Given the description of an element on the screen output the (x, y) to click on. 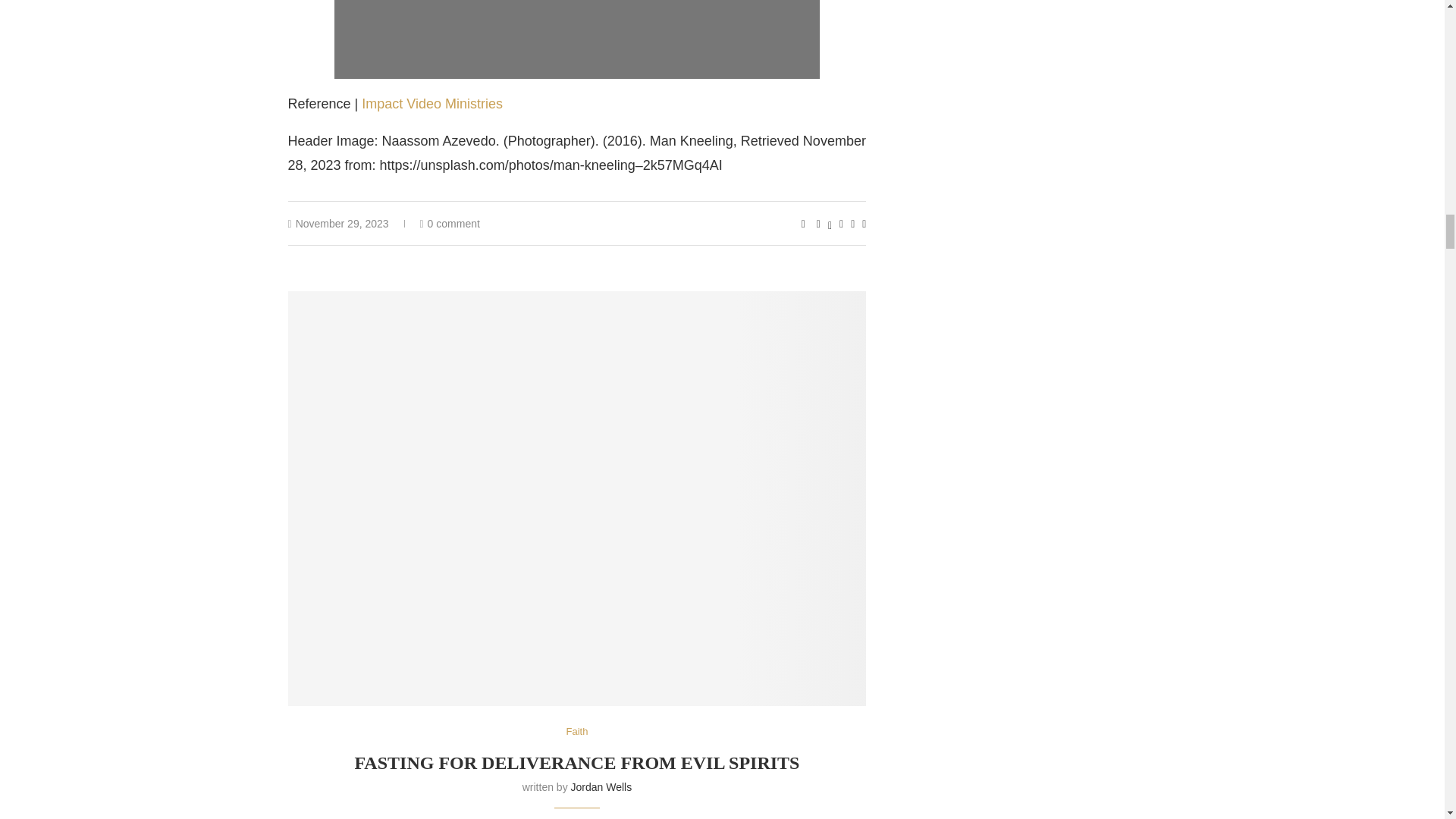
4 Tips for HOW to Fast (576, 39)
